Given the description of an element on the screen output the (x, y) to click on. 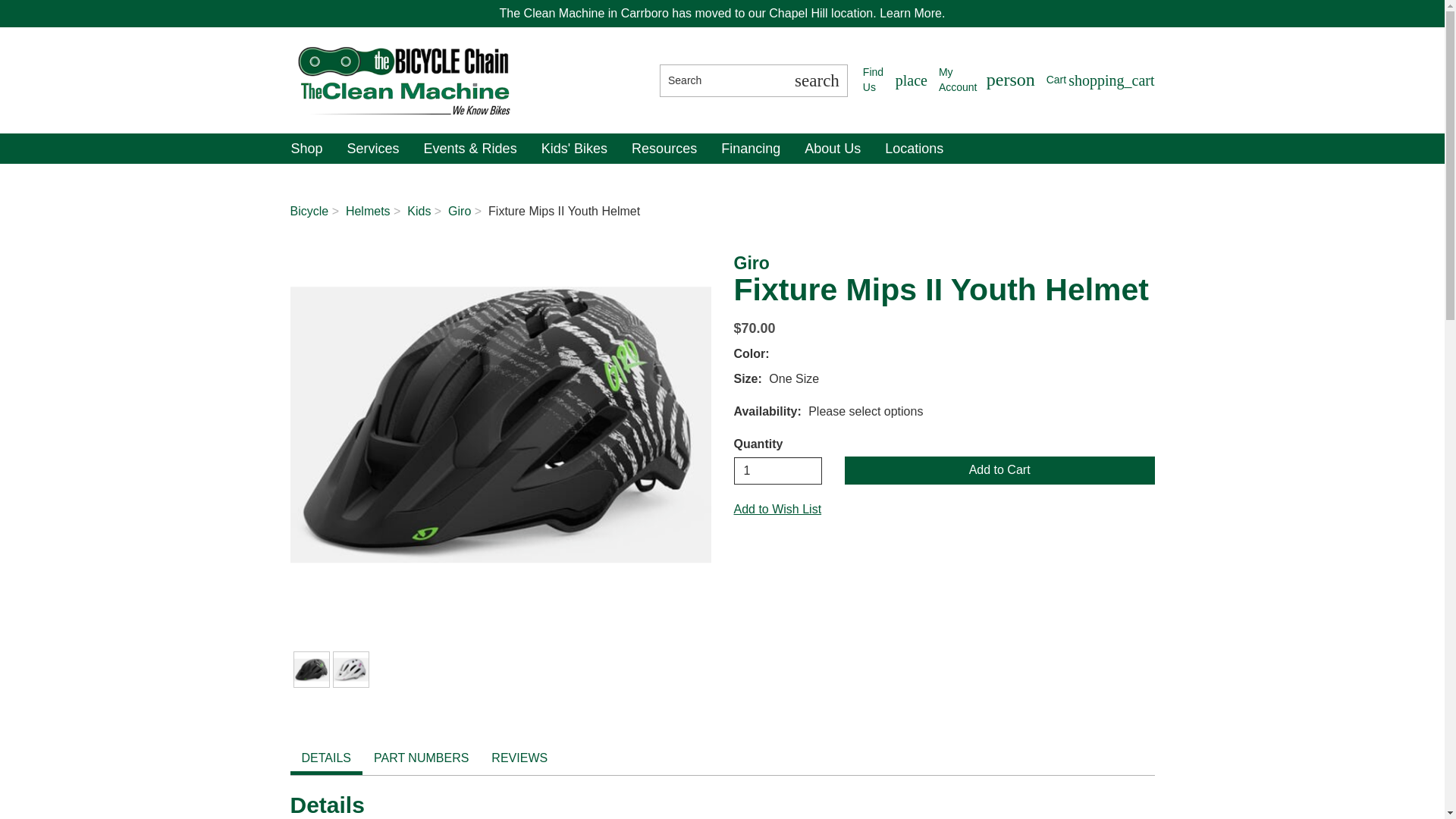
Account (987, 80)
Search (987, 80)
Giro Fixture Mips II Youth Helmet (816, 80)
1 (499, 424)
Search (895, 80)
Shop (777, 470)
Learn More (1100, 79)
Stores (722, 80)
